Given the description of an element on the screen output the (x, y) to click on. 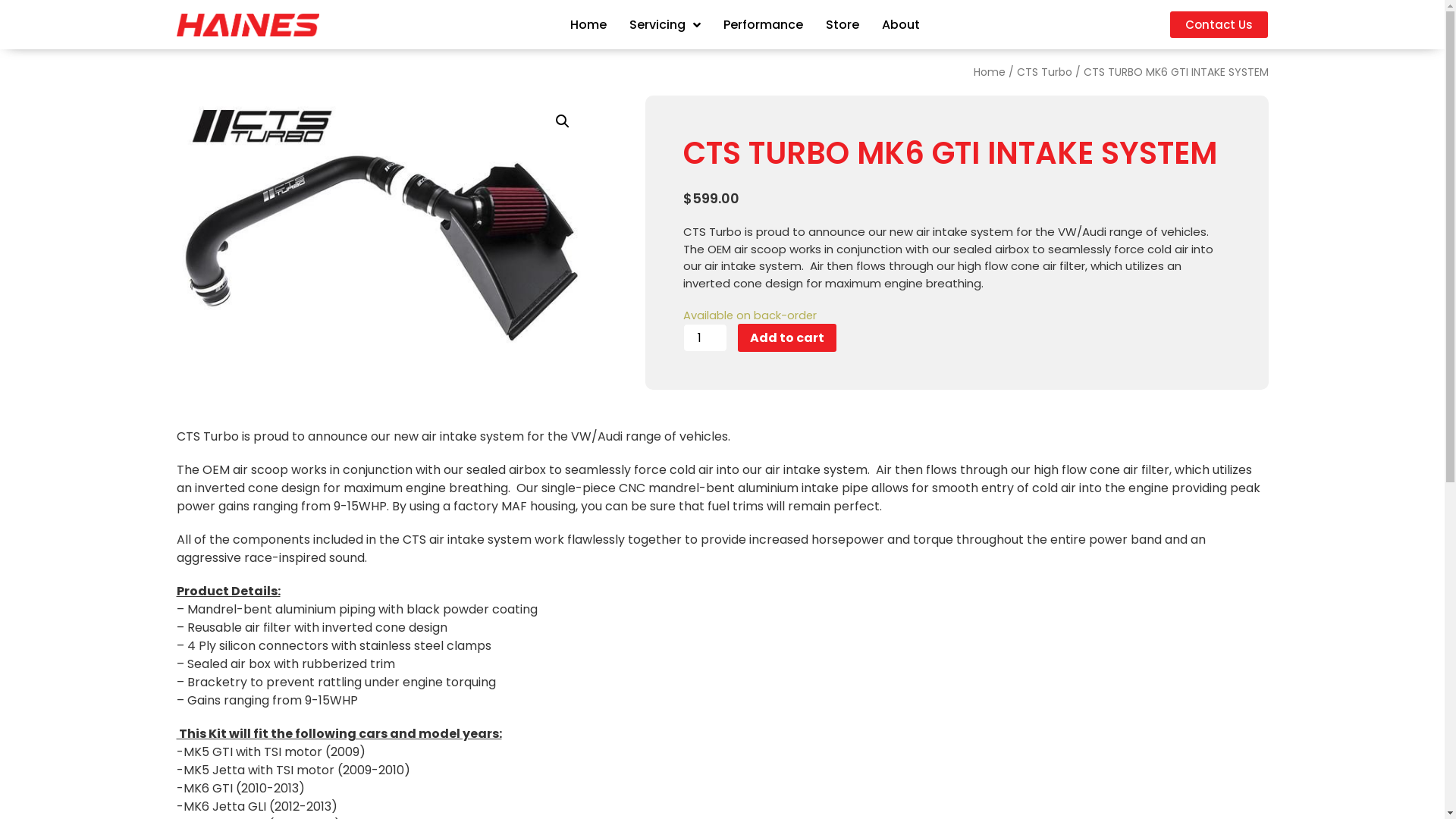
Contact Us Element type: text (1218, 24)
Add to cart Element type: text (786, 337)
CTS Turbo Element type: text (1043, 71)
Store Element type: text (842, 24)
Performance Element type: text (763, 24)
About Element type: text (900, 24)
1155_600x600 Element type: hover (381, 223)
Home Element type: text (588, 24)
Servicing Element type: text (664, 24)
Home Element type: text (989, 71)
